Given the description of an element on the screen output the (x, y) to click on. 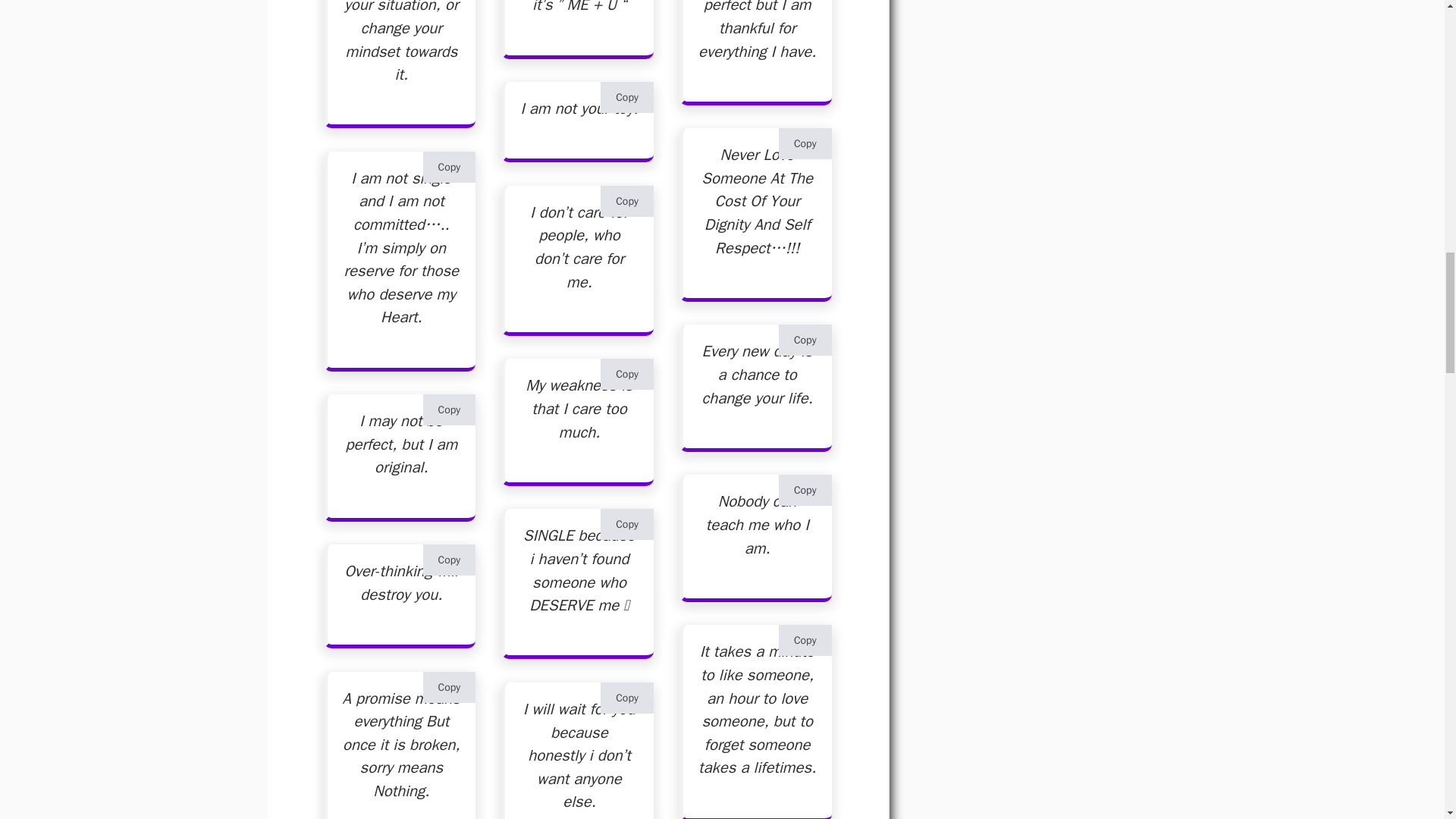
Copy to Clipboard (449, 166)
Copy to Clipboard (449, 686)
Copy to Clipboard (449, 559)
Copy to Clipboard (449, 409)
